Given the description of an element on the screen output the (x, y) to click on. 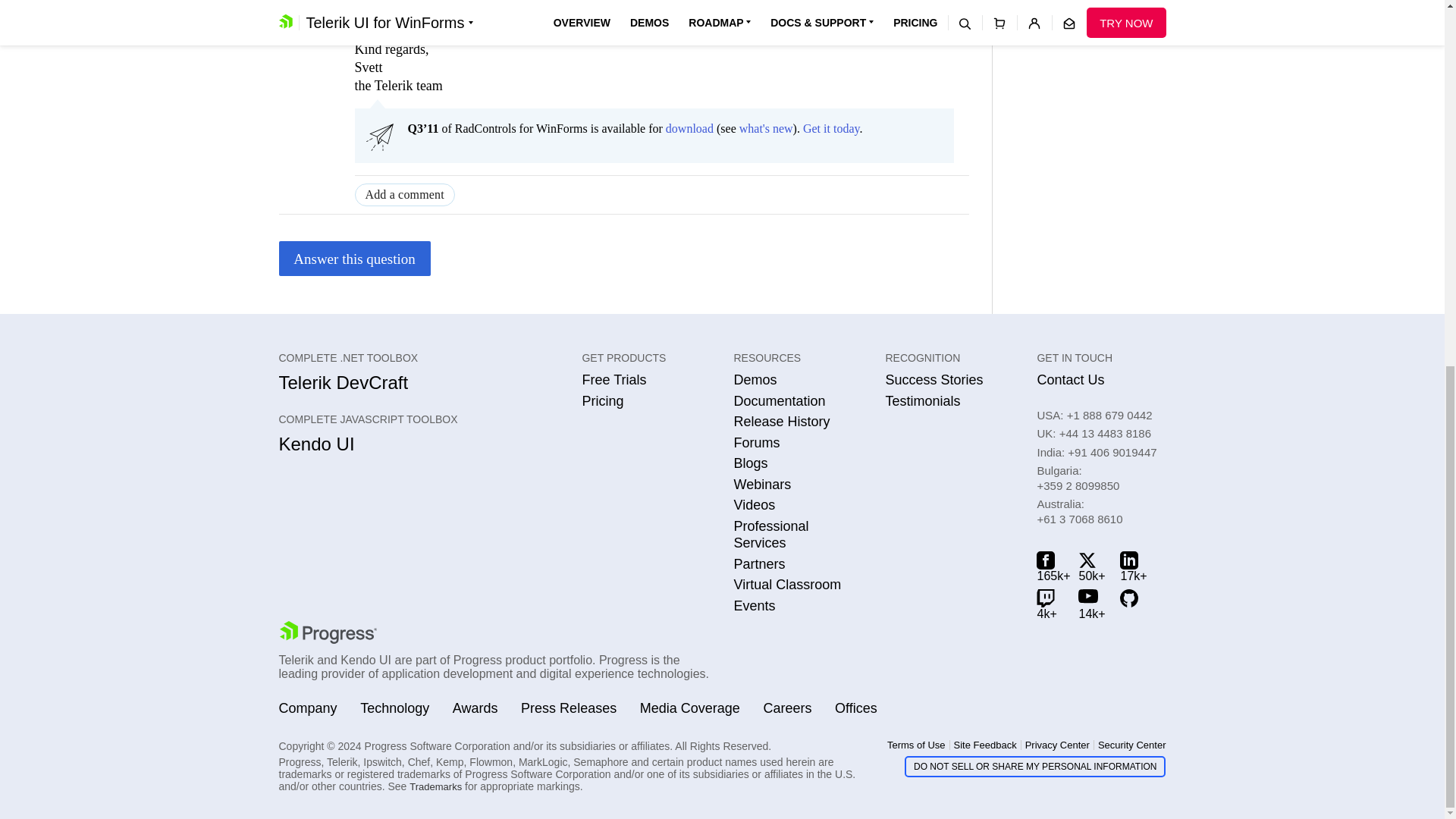
GitHub (1133, 604)
Twitch (1049, 604)
LinkedIn (1133, 567)
YouTube (1091, 604)
WinForms Trial Download  (689, 128)
RadControls for WinForms What's New (766, 128)
Facebook (1049, 567)
X (1091, 567)
